Given the description of an element on the screen output the (x, y) to click on. 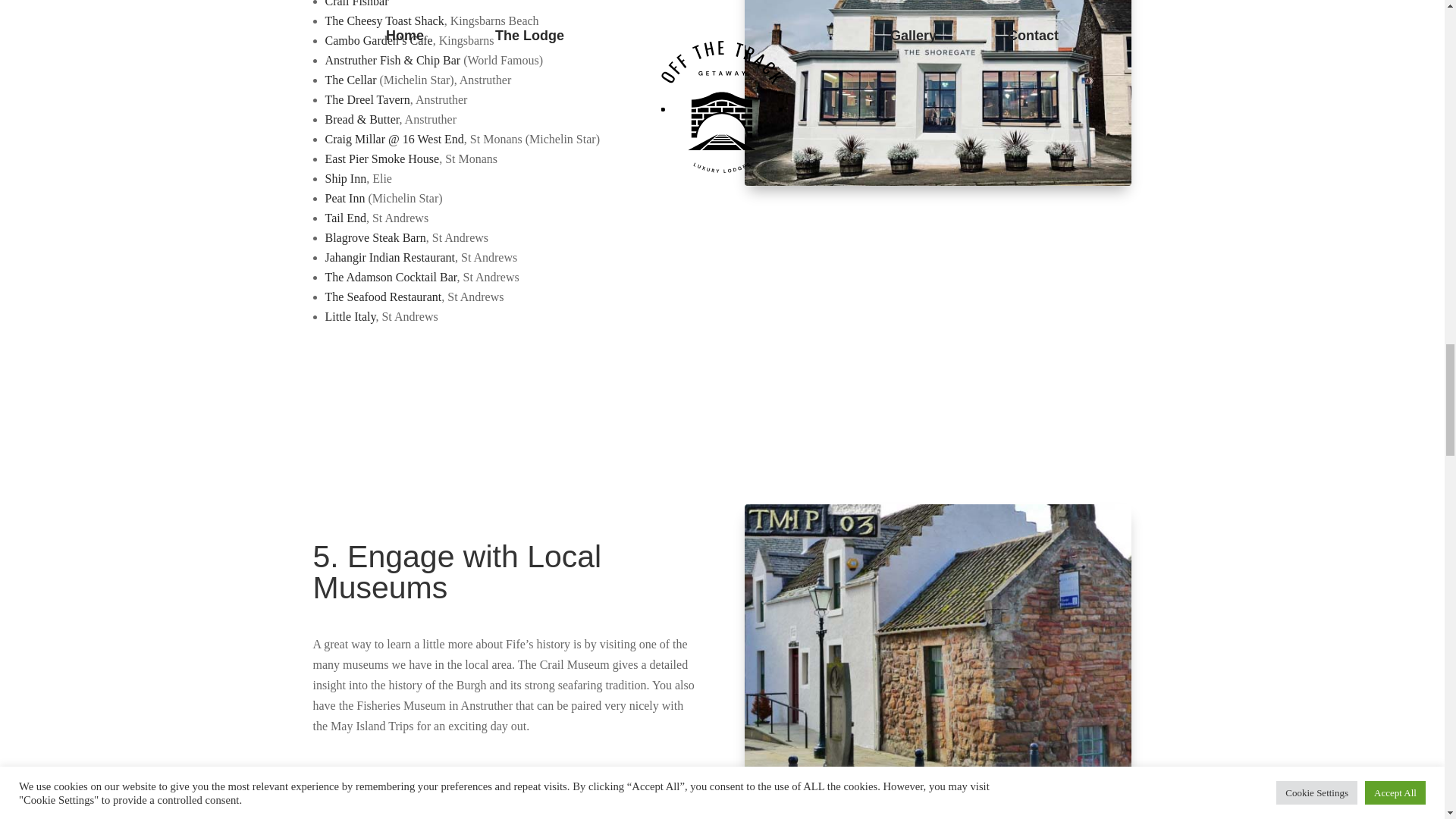
The Cheesy Toast Shack (384, 20)
Peat Inn (344, 197)
Jahangir Indian Restaurant (389, 256)
Crail Museum (937, 638)
Blagrove Steak Barn (374, 237)
The Adamson Cocktail Bar (390, 277)
Ship Inn (345, 178)
Crail Fishbar (356, 3)
East Pier Smoke House (381, 158)
Tail End (344, 217)
The Shoregate, Crail (937, 92)
The Dreel Tavern (366, 99)
Little Italy (349, 316)
The Seafood Restaurant (382, 296)
The Cellar (349, 79)
